Given the description of an element on the screen output the (x, y) to click on. 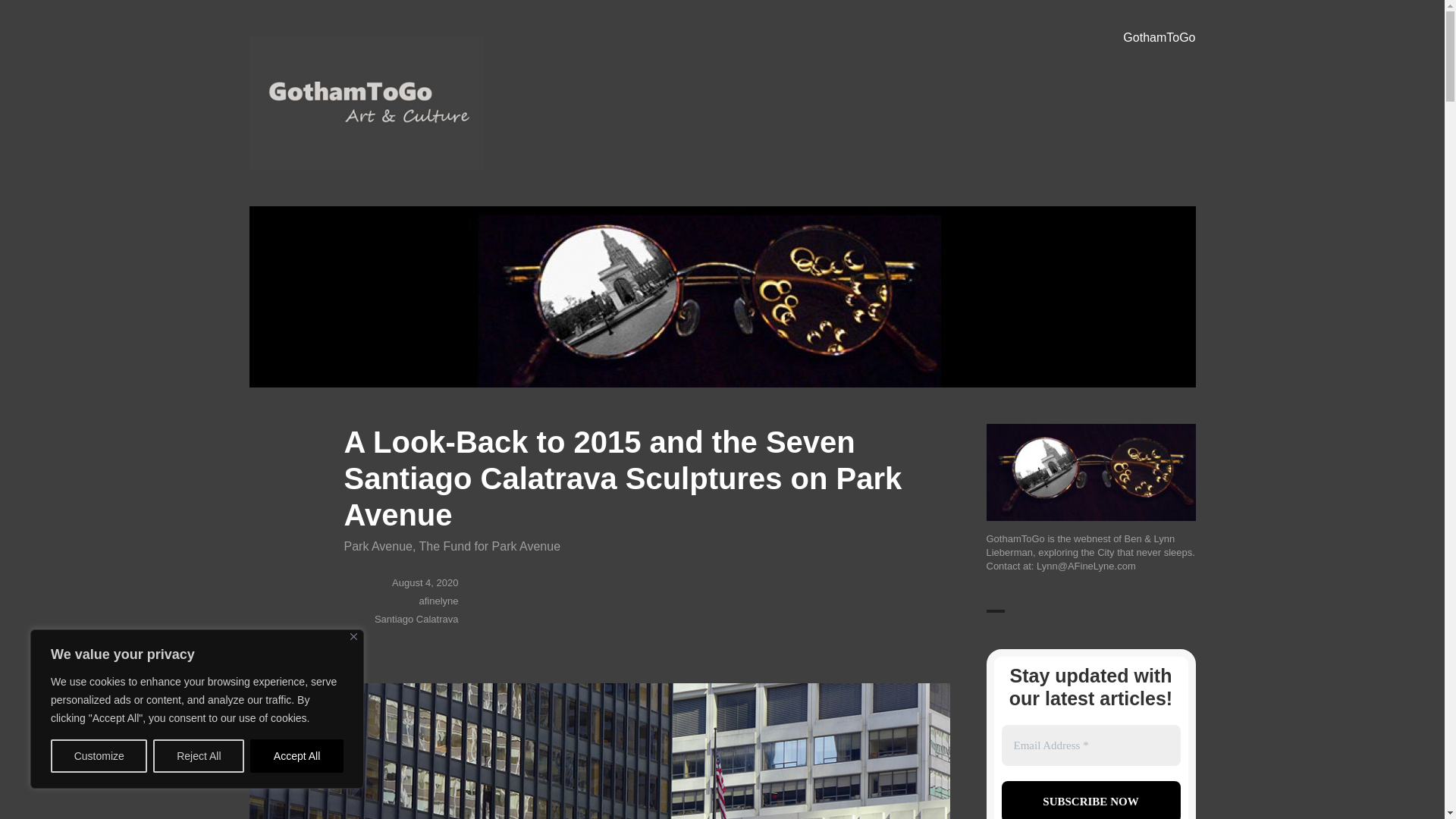
The Fund for Park Avenue (489, 545)
SUBSCRIBE NOW (1090, 800)
Customize (98, 756)
Park Avenue (377, 545)
Email Address (1090, 745)
Accept All (296, 756)
GothamToGo (319, 191)
GothamToGo (1158, 37)
Reject All (198, 756)
